Given the description of an element on the screen output the (x, y) to click on. 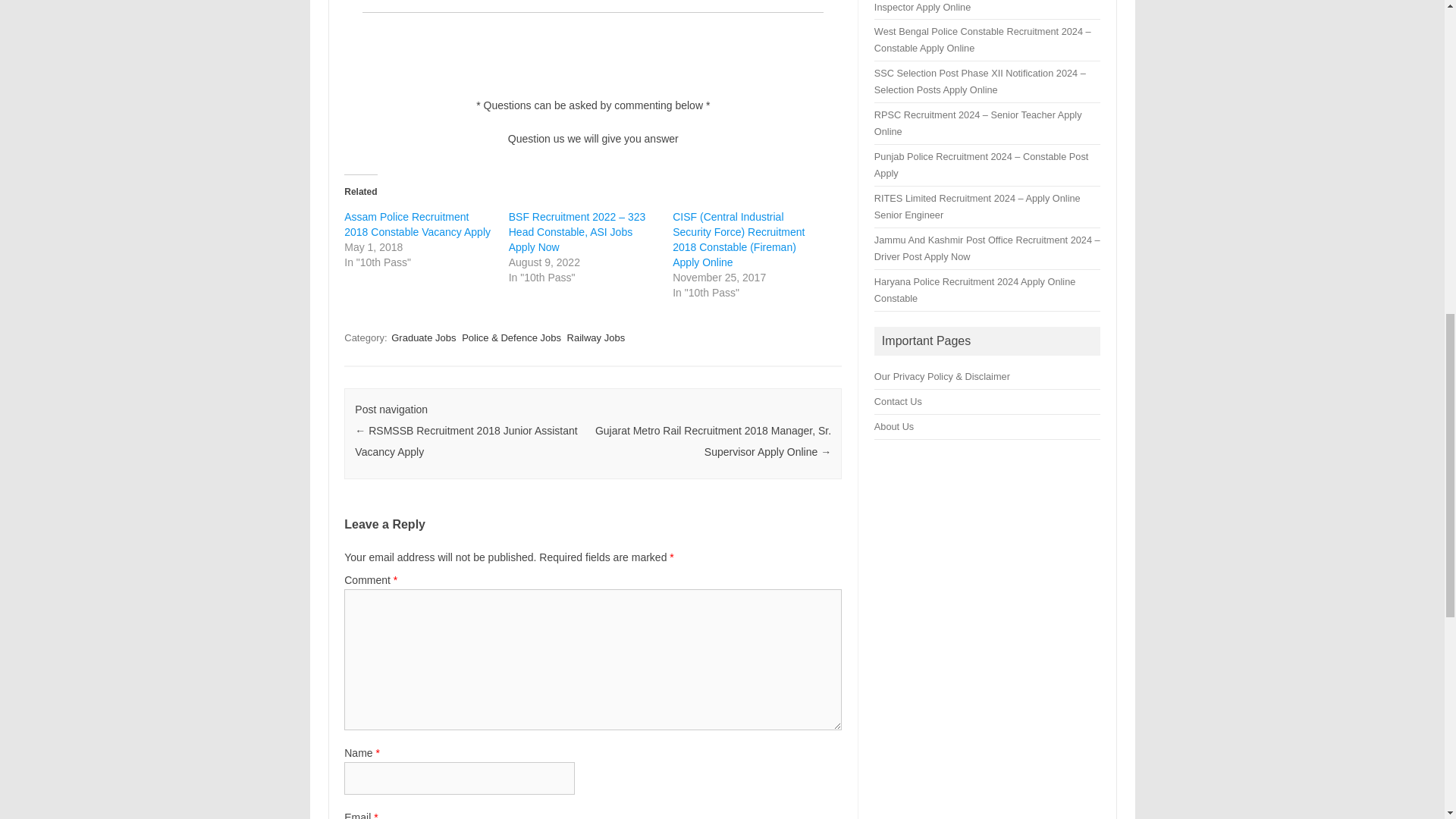
Railway Jobs (596, 337)
Haryana Police Recruitment 2024 Apply Online Constable (975, 289)
About Us (894, 426)
Assam Police Recruitment 2018 Constable Vacancy Apply (416, 224)
Contact Us (898, 401)
Assam Police Recruitment 2018 Constable Vacancy Apply (416, 224)
Graduate Jobs (423, 337)
